Given the description of an element on the screen output the (x, y) to click on. 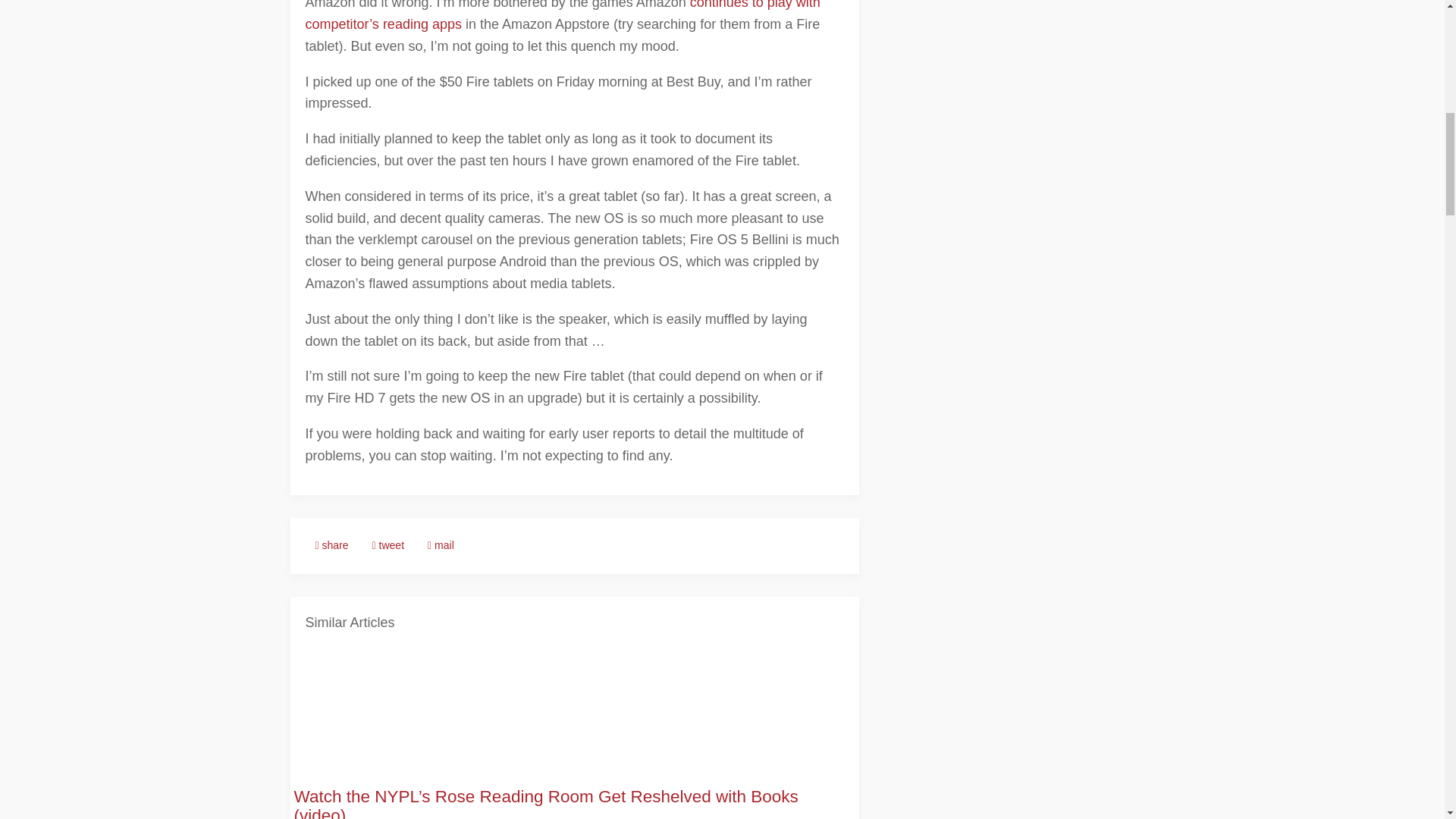
share (331, 545)
tweet (387, 545)
mail (440, 545)
